Given the description of an element on the screen output the (x, y) to click on. 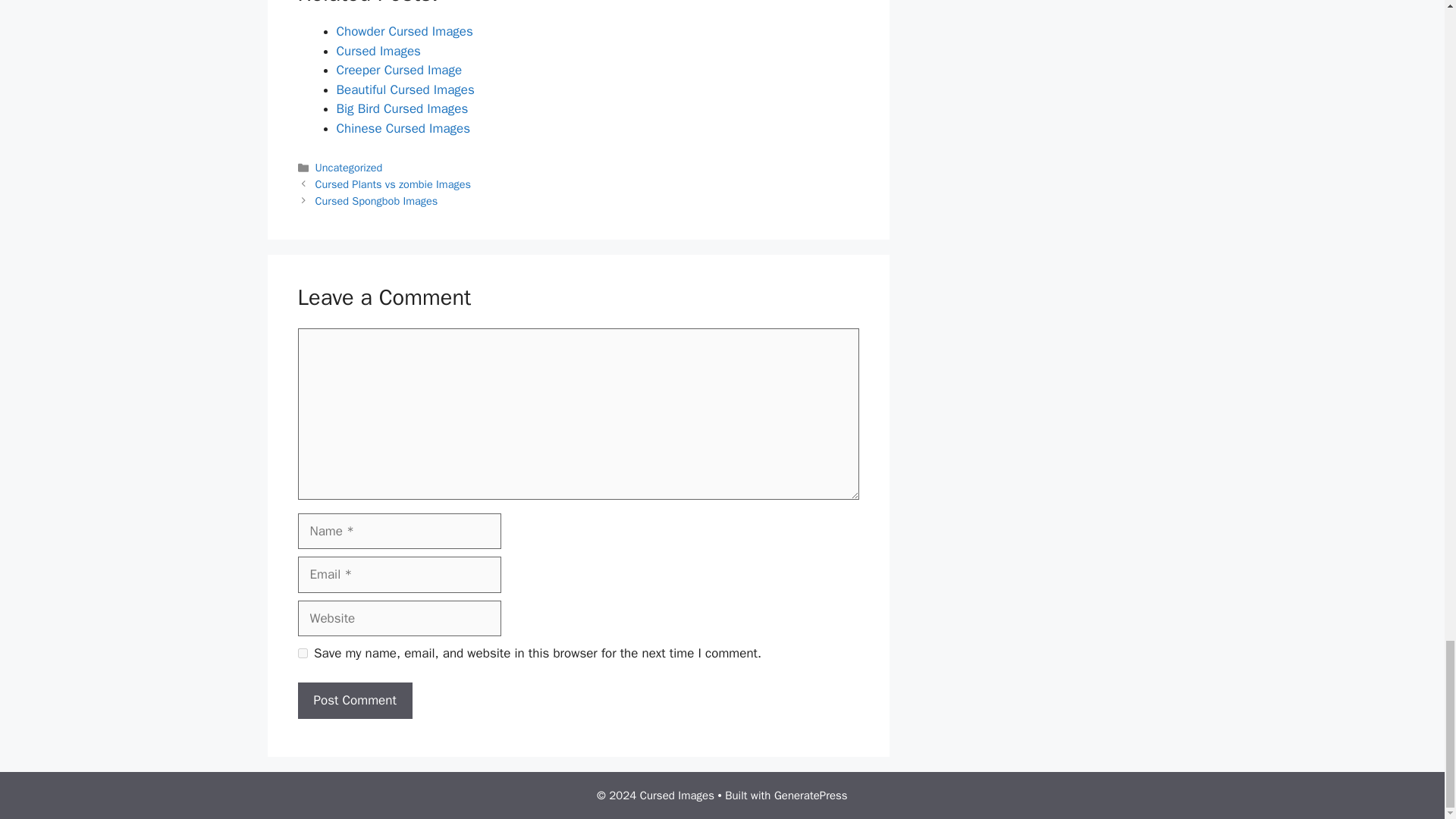
yes (302, 653)
Chinese Cursed Images (403, 128)
Cursed Spongbob Images (376, 201)
Post Comment (354, 700)
GeneratePress (810, 795)
Creeper Cursed Image (399, 69)
Big Bird Cursed Images (402, 108)
Cursed Images (378, 50)
Chowder Cursed Images (404, 31)
Cursed Plants vs zombie Images (392, 183)
Post Comment (354, 700)
Beautiful Cursed Images (405, 89)
Uncategorized (348, 167)
